Given the description of an element on the screen output the (x, y) to click on. 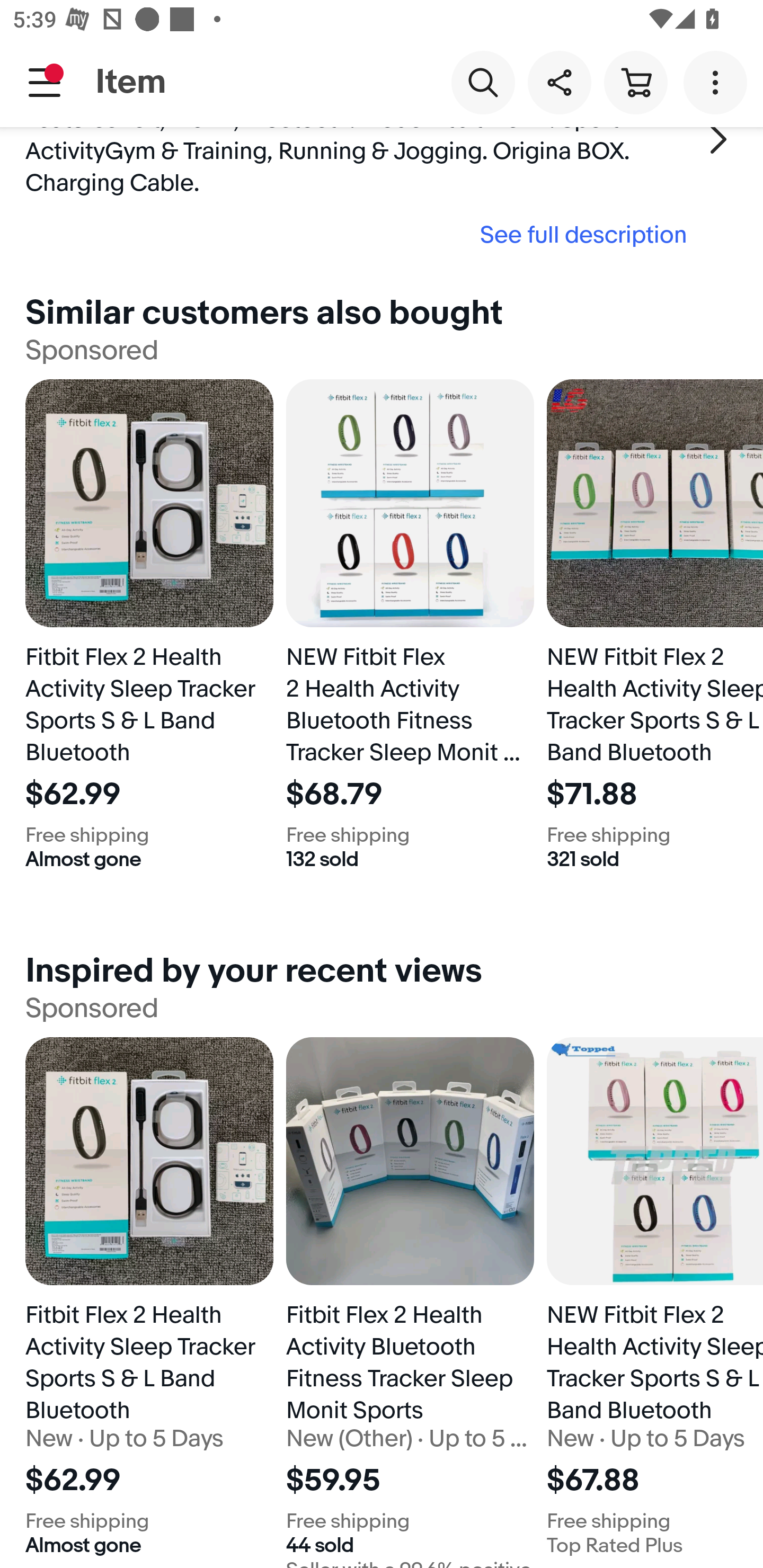
Main navigation, notification is pending, open (44, 82)
Search (482, 81)
Share this item (559, 81)
Cart button shopping cart (635, 81)
More options (718, 81)
See full description (362, 234)
